Given the description of an element on the screen output the (x, y) to click on. 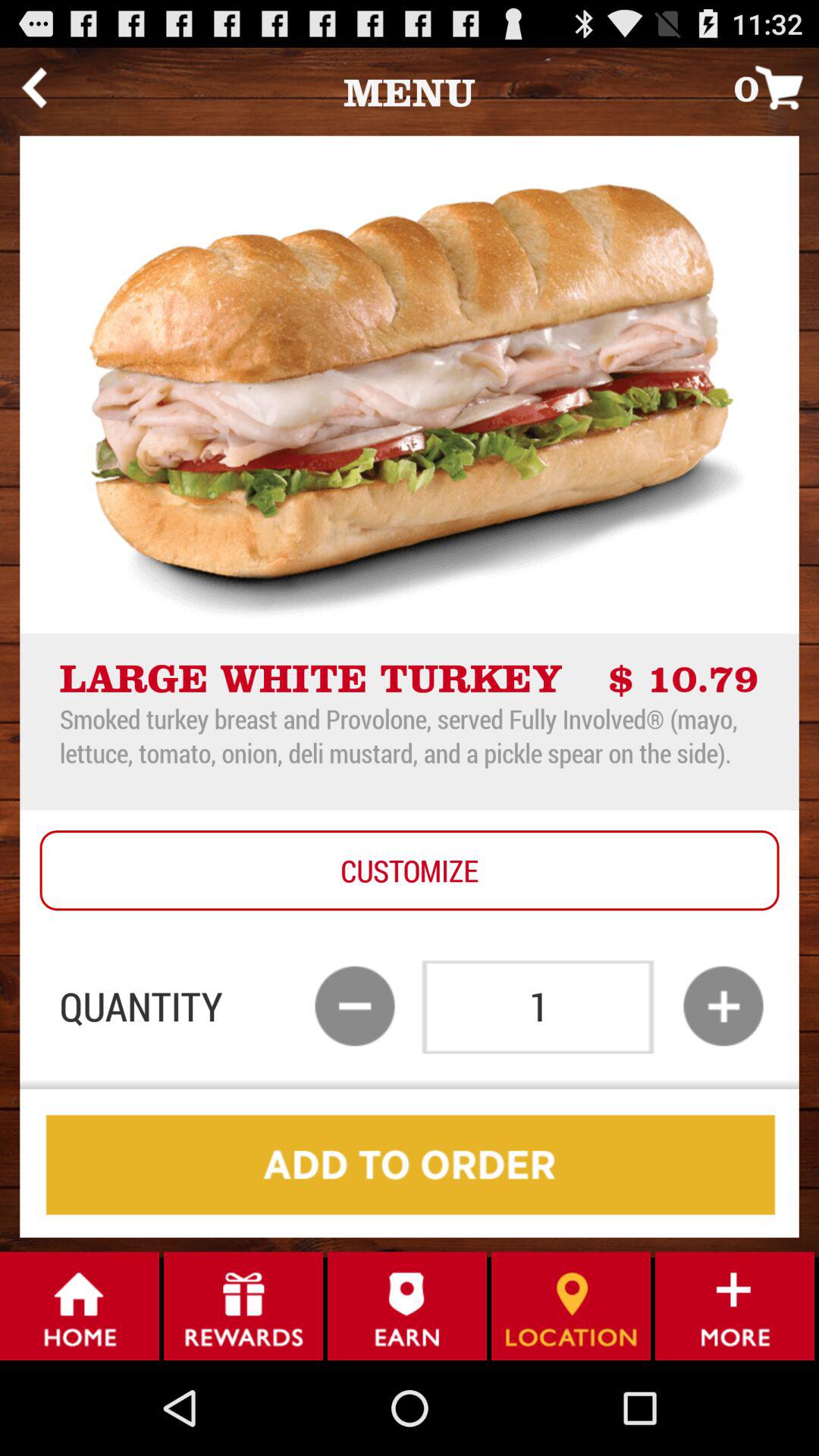
click the item below the customize item (354, 1005)
